Given the description of an element on the screen output the (x, y) to click on. 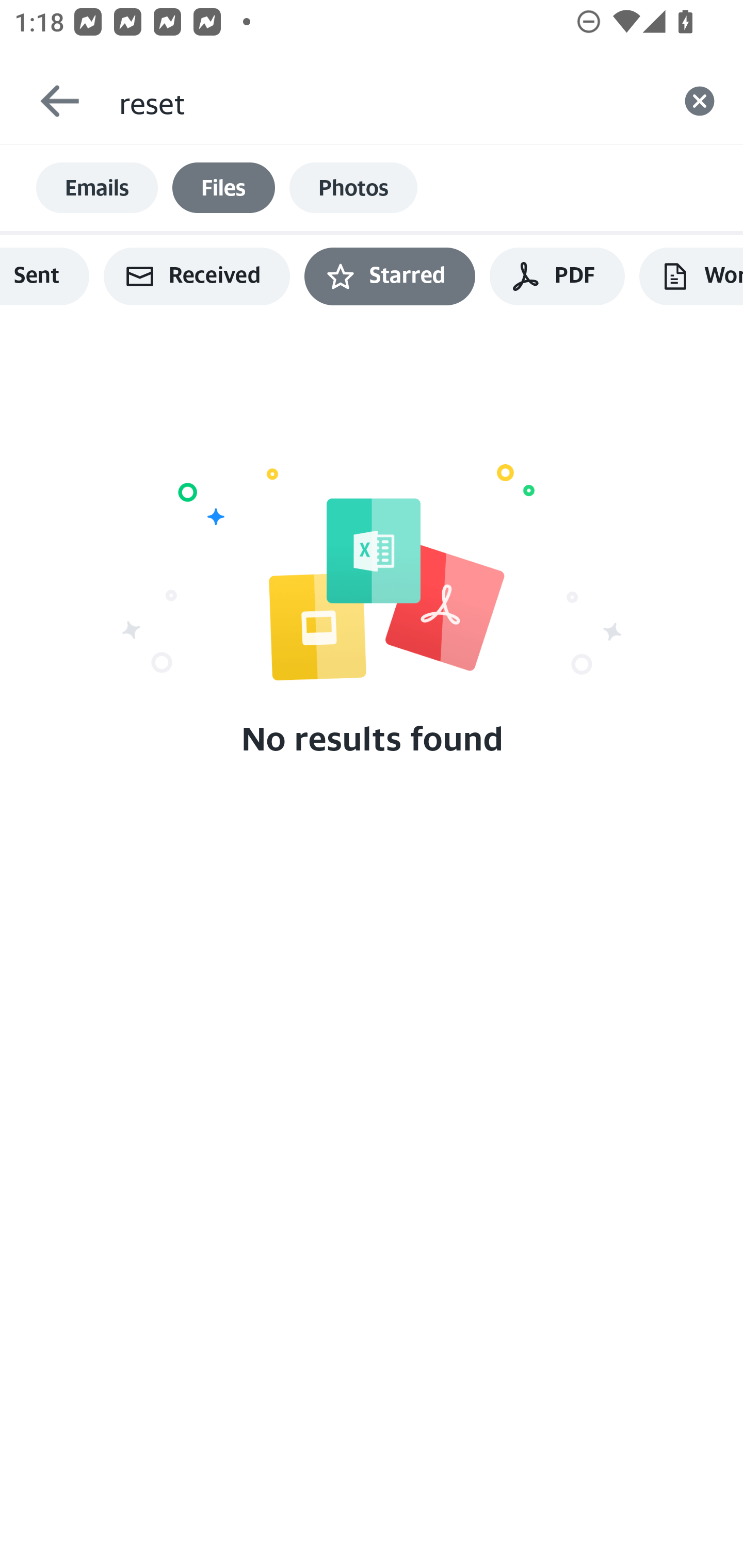
Back (50, 101)
reset (387, 101)
Clear (699, 101)
Emails (96, 188)
Files (223, 188)
Photos (353, 188)
Sent (44, 276)
Received (196, 276)
PDF (556, 276)
Word document (690, 276)
